Given the description of an element on the screen output the (x, y) to click on. 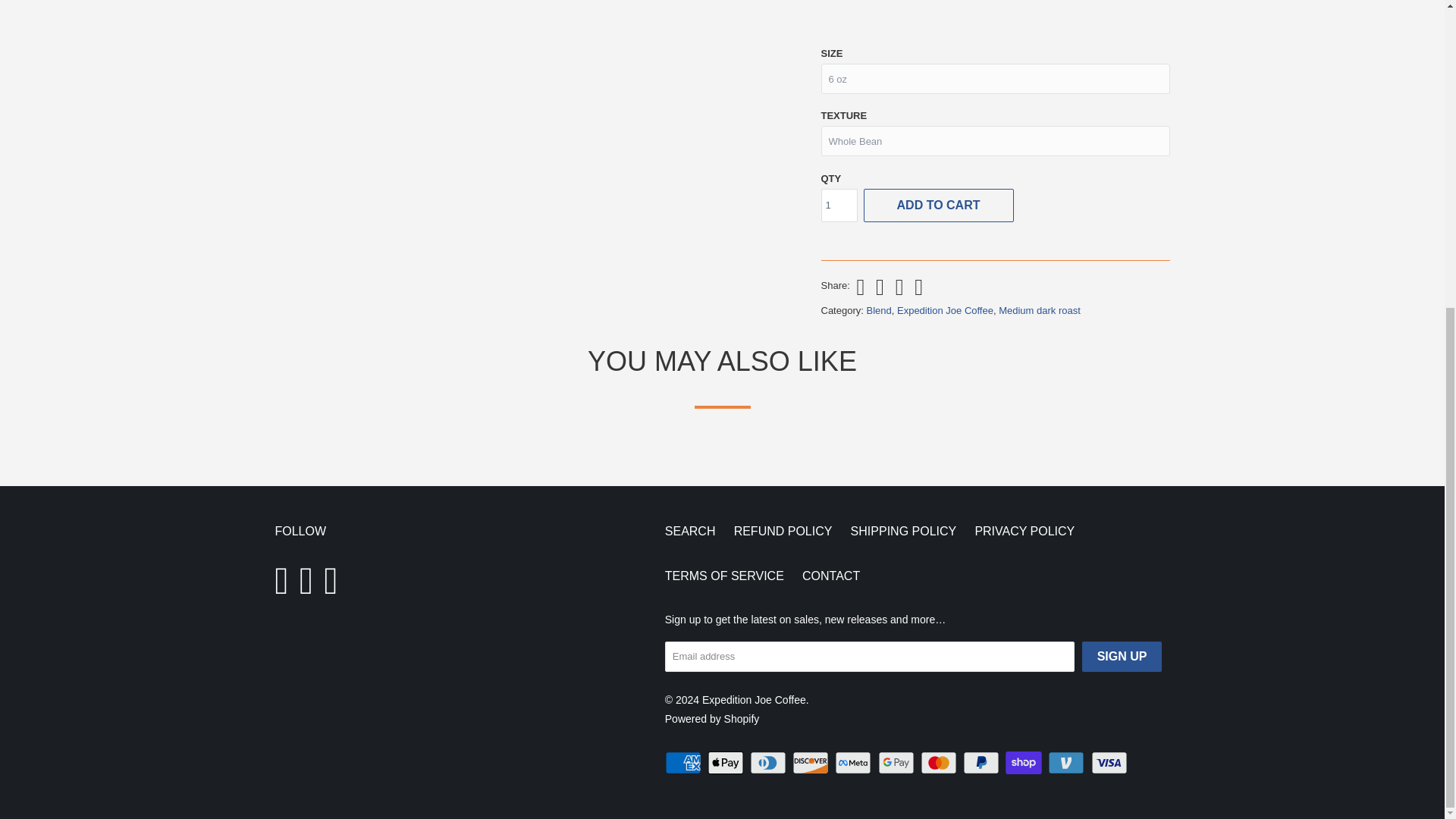
Discover (811, 762)
Products tagged Blend (878, 310)
Mastercard (939, 762)
1 (839, 205)
Shop Pay (1025, 762)
Meta Pay (854, 762)
Products tagged Medium dark roast (1039, 310)
Sign Up (1121, 656)
Apple Pay (726, 762)
Products tagged Expedition Joe Coffee (944, 310)
Venmo (1067, 762)
PayPal (982, 762)
Google Pay (897, 762)
American Express (684, 762)
